Given the description of an element on the screen output the (x, y) to click on. 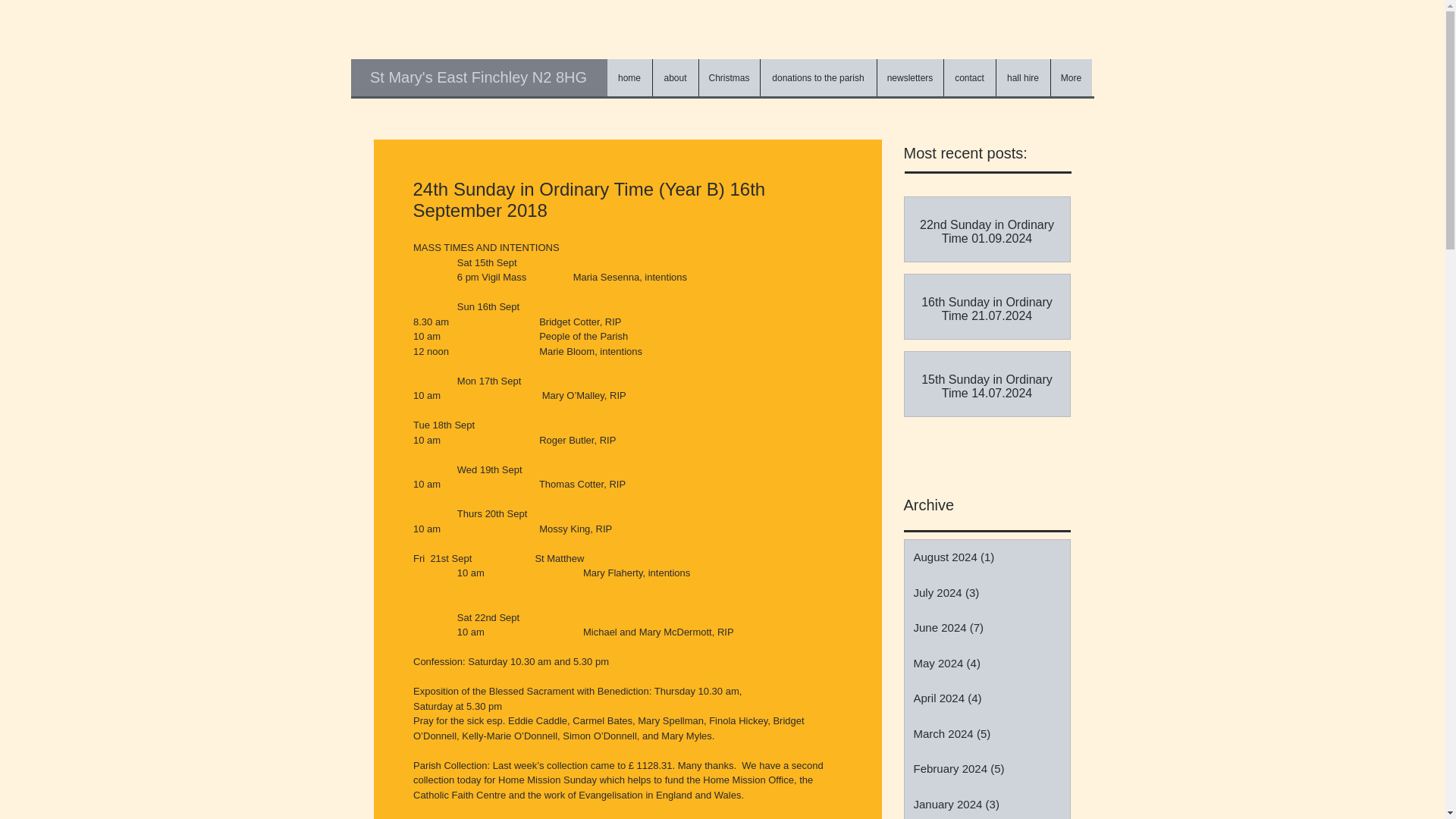
about (675, 77)
Christmas (727, 77)
15th Sunday in Ordinary Time 14.07.2024 (986, 386)
16th Sunday in Ordinary Time 21.07.2024 (986, 308)
donations to the parish (818, 77)
contact (969, 77)
newsletters (909, 77)
22nd Sunday in Ordinary Time 01.09.2024 (986, 231)
home (628, 77)
hall hire (1021, 77)
